Given the description of an element on the screen output the (x, y) to click on. 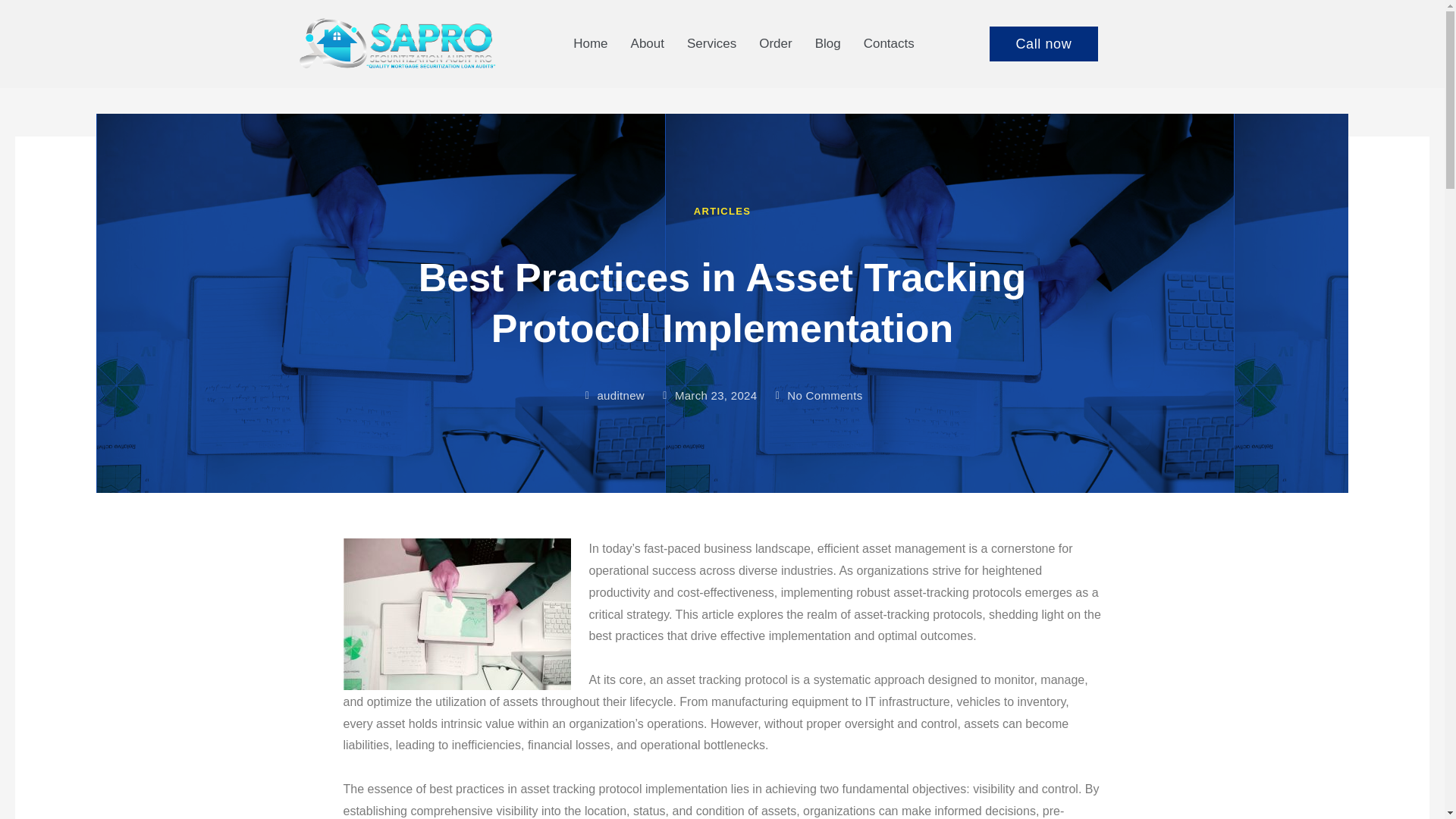
auditnew (611, 395)
About (647, 43)
Contacts (888, 43)
Services (711, 43)
Call now (1042, 43)
March 23, 2024 (708, 395)
ARTICLES (722, 211)
Blog (827, 43)
Order (775, 43)
Home (590, 43)
